Given the description of an element on the screen output the (x, y) to click on. 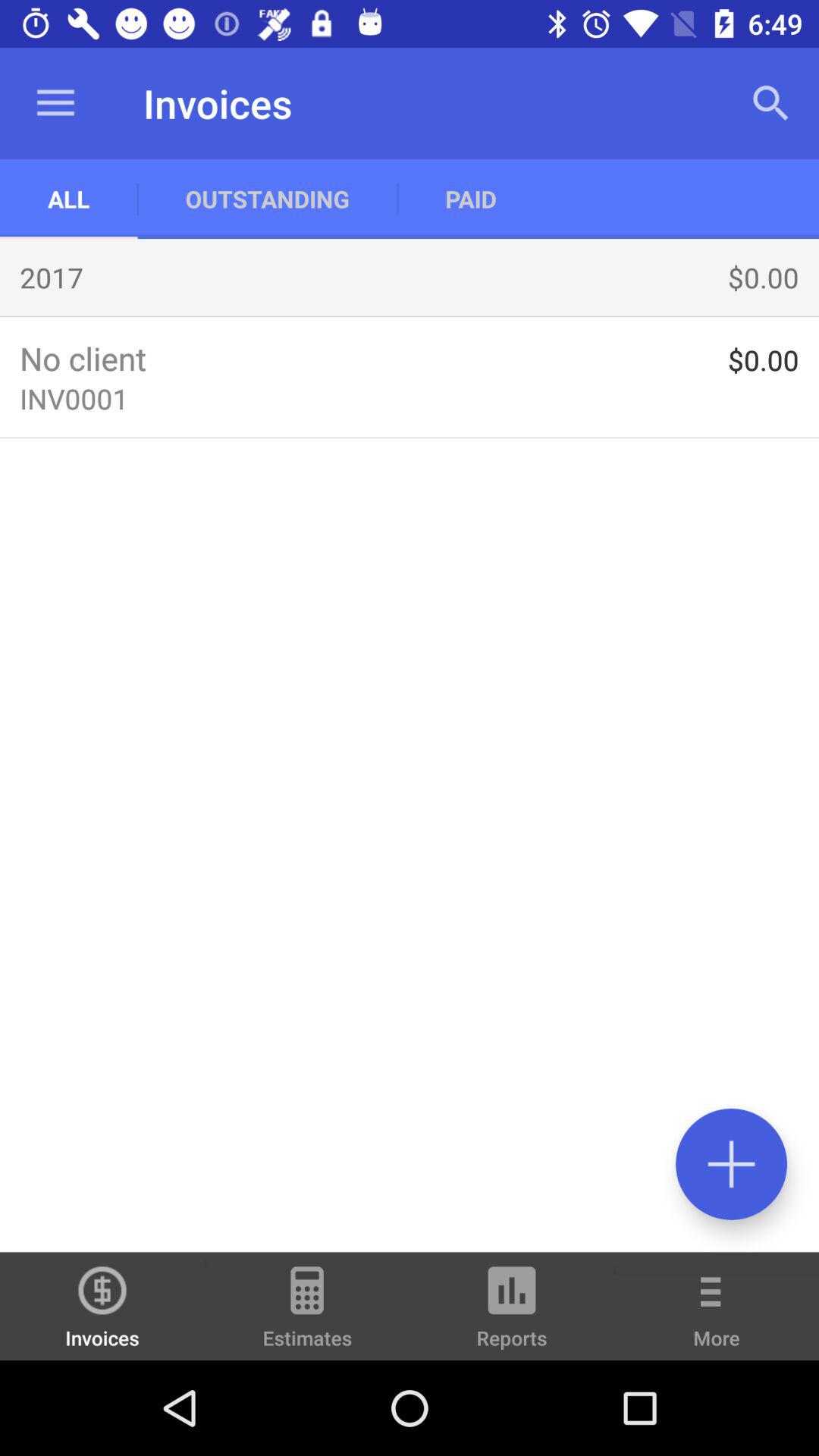
flip until the outstanding item (267, 198)
